Given the description of an element on the screen output the (x, y) to click on. 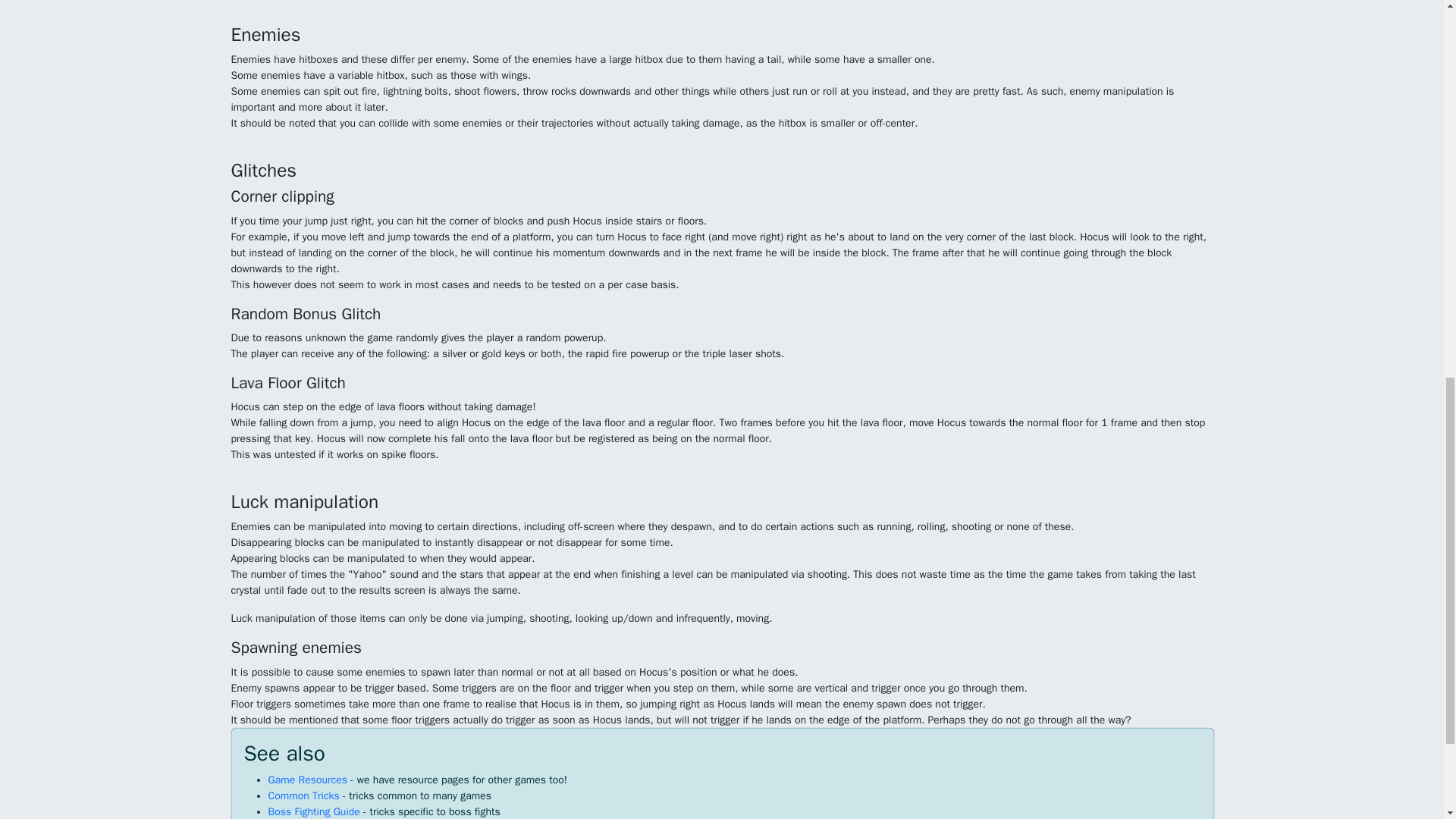
Game Resources (307, 779)
Common Tricks (303, 795)
Boss Fighting Guide (313, 811)
